Given the description of an element on the screen output the (x, y) to click on. 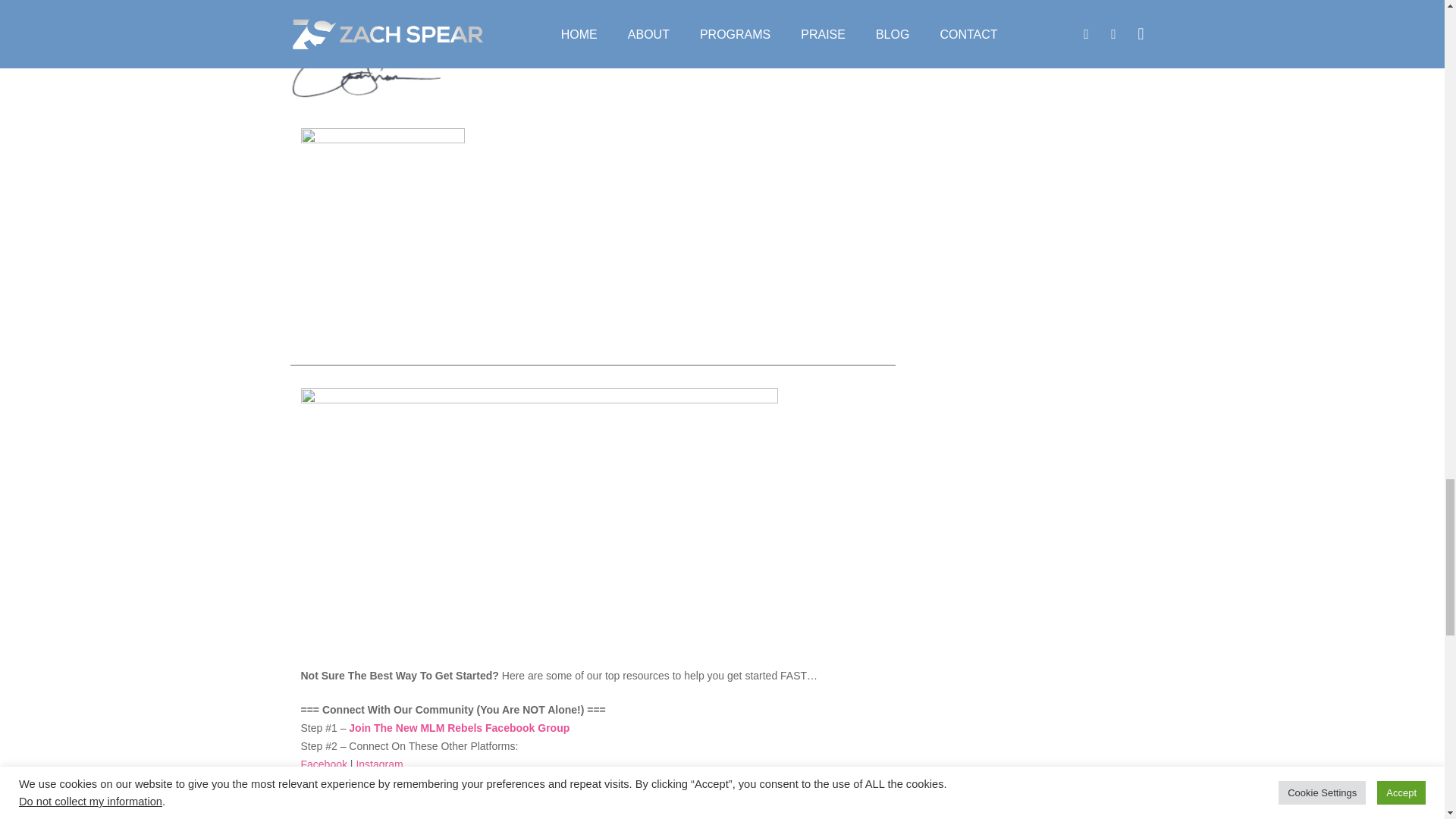
Instagram (379, 764)
Facebook (322, 764)
Apply For Our Coaching Program (670, 816)
Apply For Our Team (537, 816)
The Perfect MLM Script (355, 816)
ClickFunnels (450, 816)
Join The New MLM Rebels Facebook Group (459, 727)
